Given the description of an element on the screen output the (x, y) to click on. 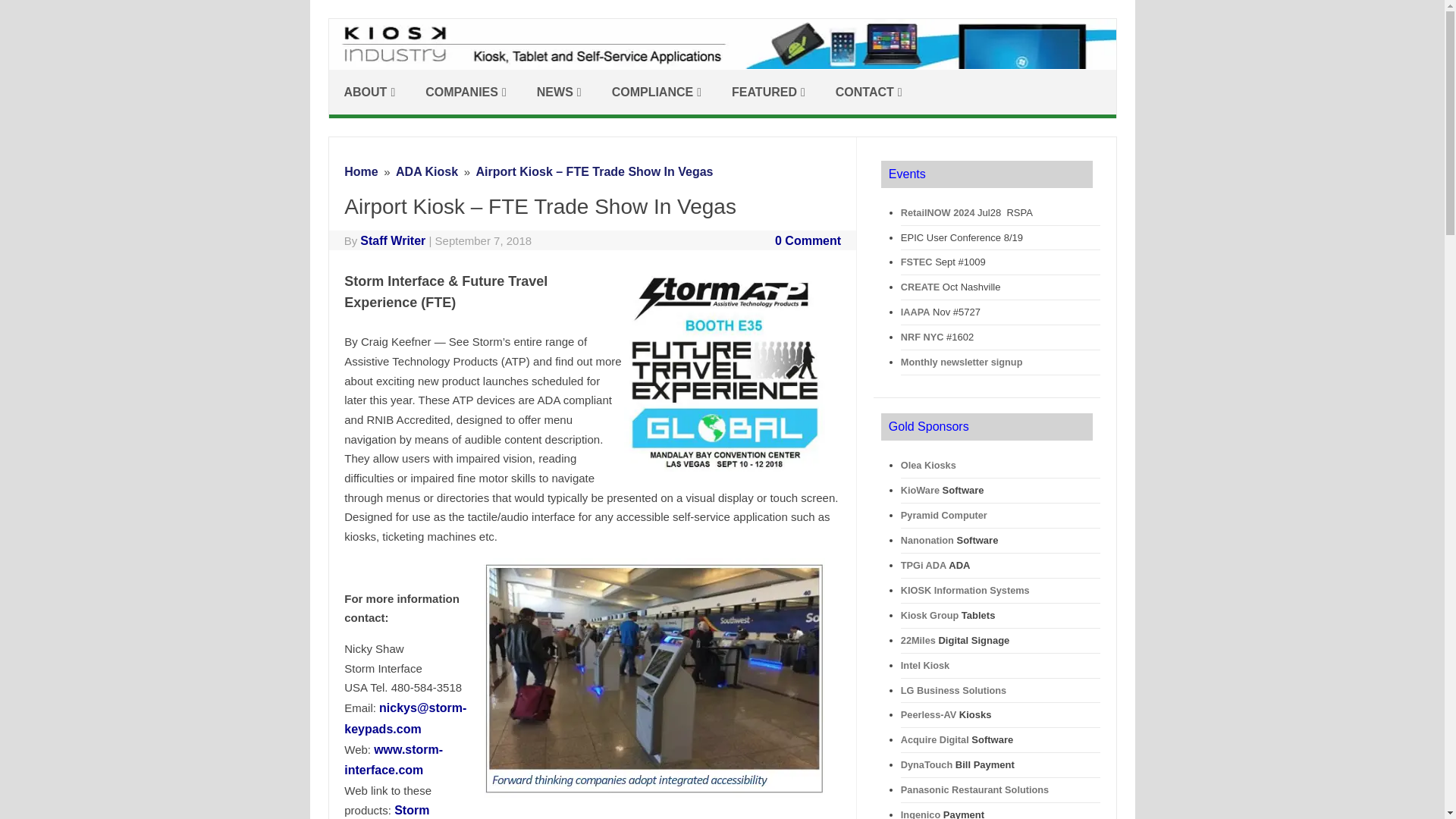
NEWS (558, 91)
Registration for RetailNOW 2024 (938, 212)
ABOUT (369, 91)
COMPANIES (465, 91)
Posts by Staff Writer (392, 240)
Self Service Kiosk Machine (722, 64)
